Given the description of an element on the screen output the (x, y) to click on. 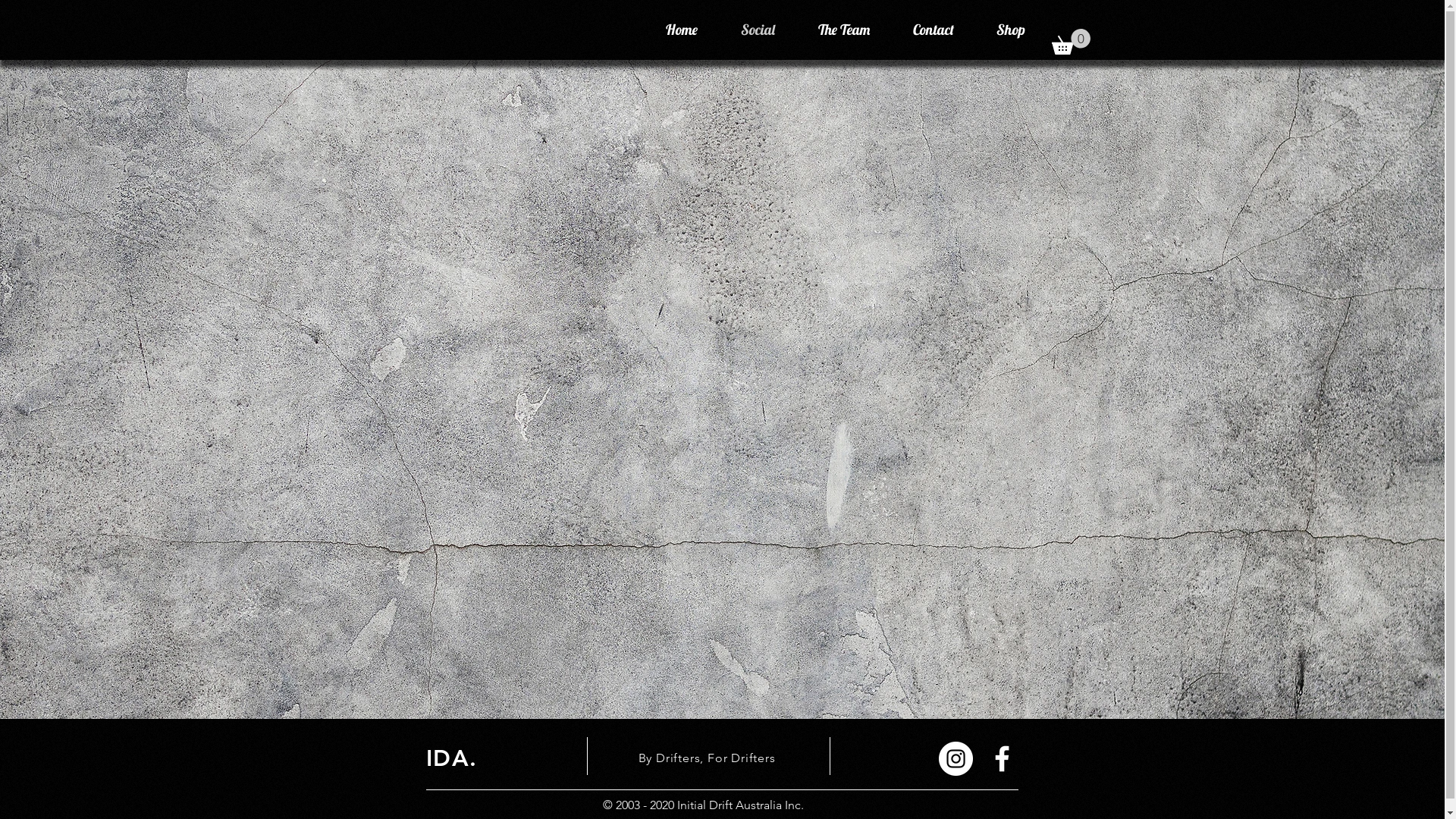
Home Element type: text (681, 29)
The Team Element type: text (843, 29)
Contact Element type: text (933, 29)
Shop Element type: text (1010, 29)
Social Element type: text (757, 29)
0 Element type: text (1070, 41)
